Given the description of an element on the screen output the (x, y) to click on. 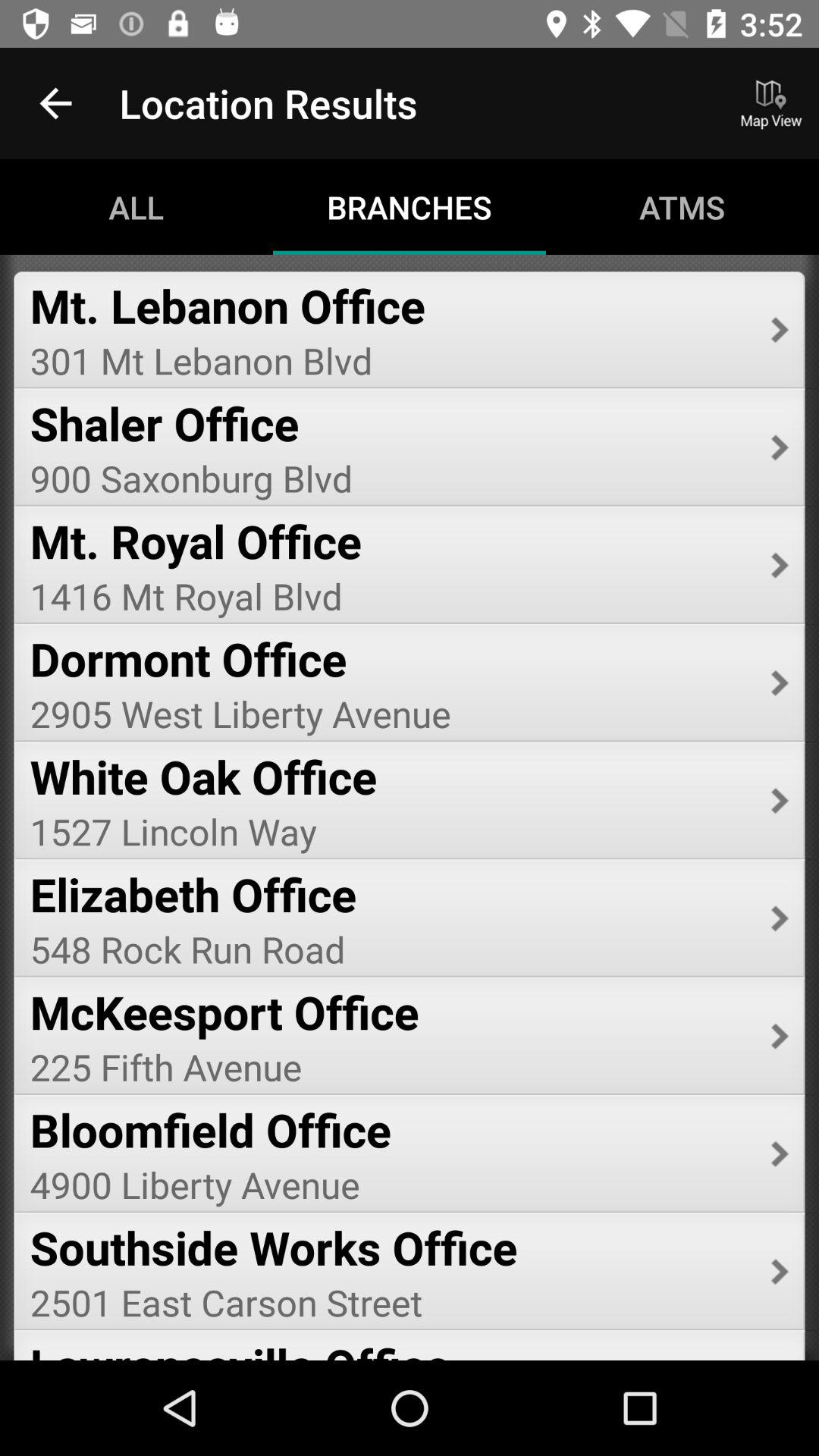
turn off item below the 1527 lincoln way (390, 893)
